Given the description of an element on the screen output the (x, y) to click on. 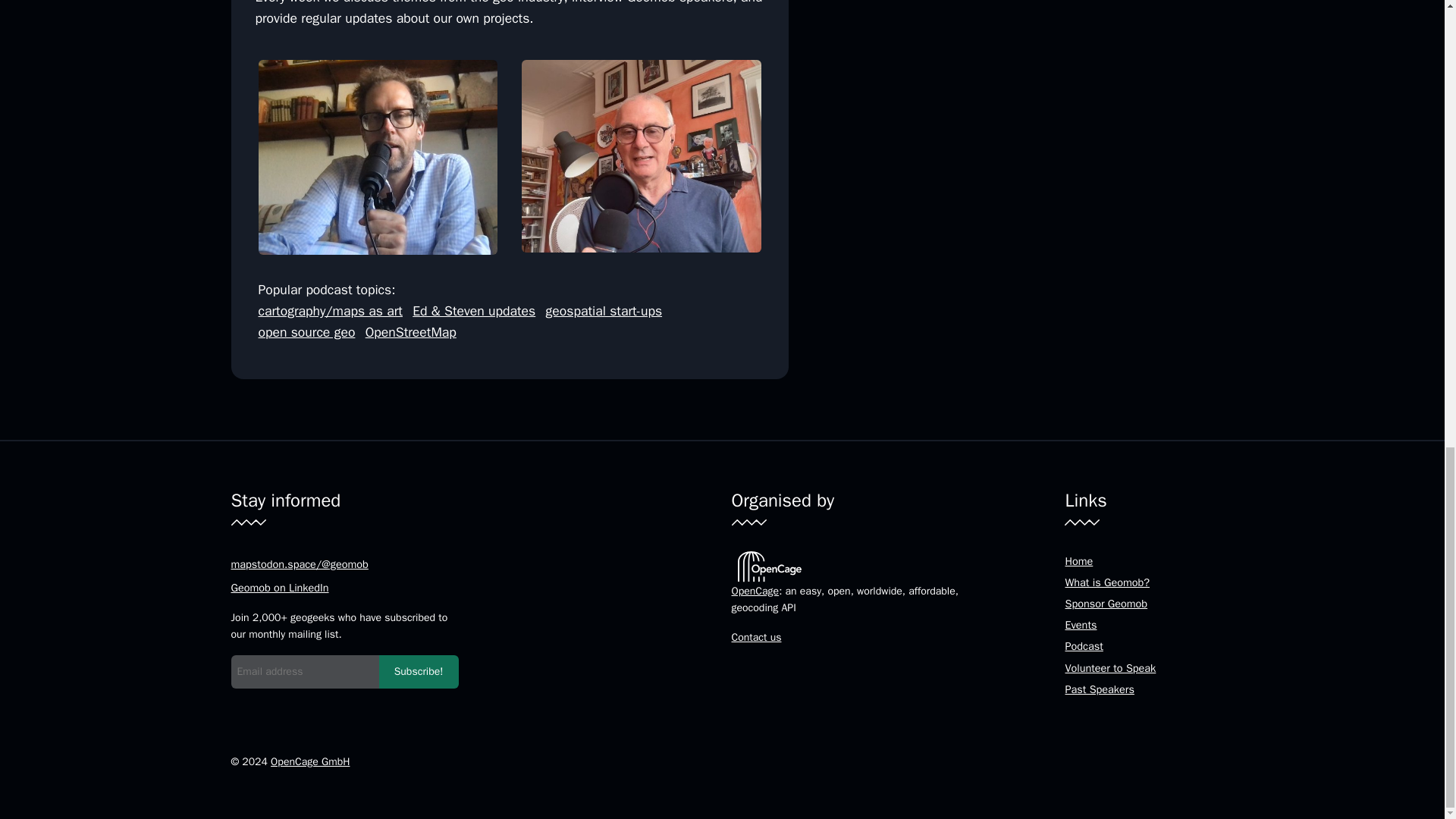
Home (1078, 561)
Contact us (755, 636)
Geomob on LinkedIn (279, 587)
open source geo (306, 331)
OpenStreetMap (411, 331)
OpenCage (754, 590)
Subscribe! (418, 671)
geospatial start-ups (604, 310)
What is Geomob? (1107, 581)
